Given the description of an element on the screen output the (x, y) to click on. 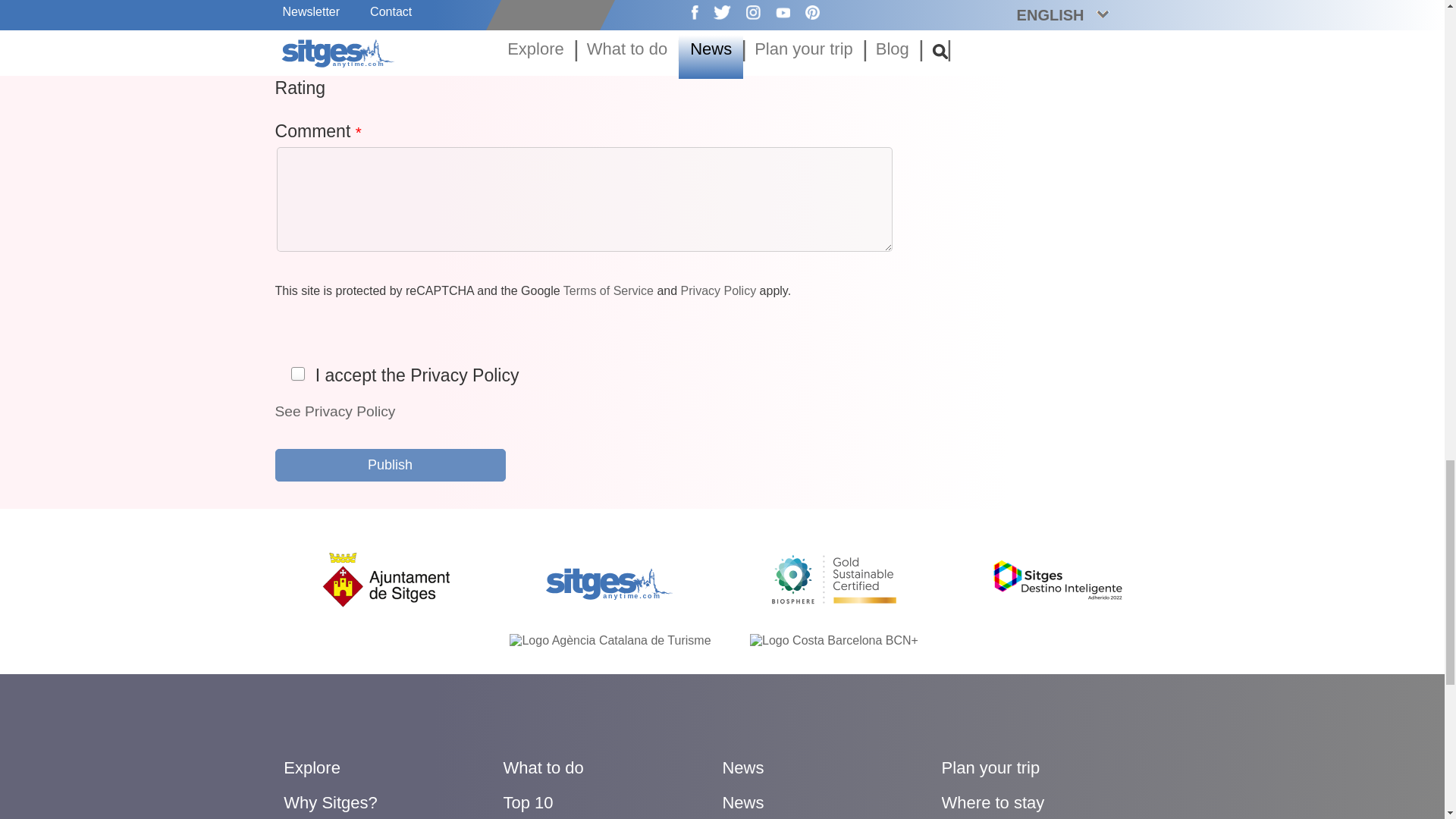
Publish (390, 464)
S (297, 373)
